Given the description of an element on the screen output the (x, y) to click on. 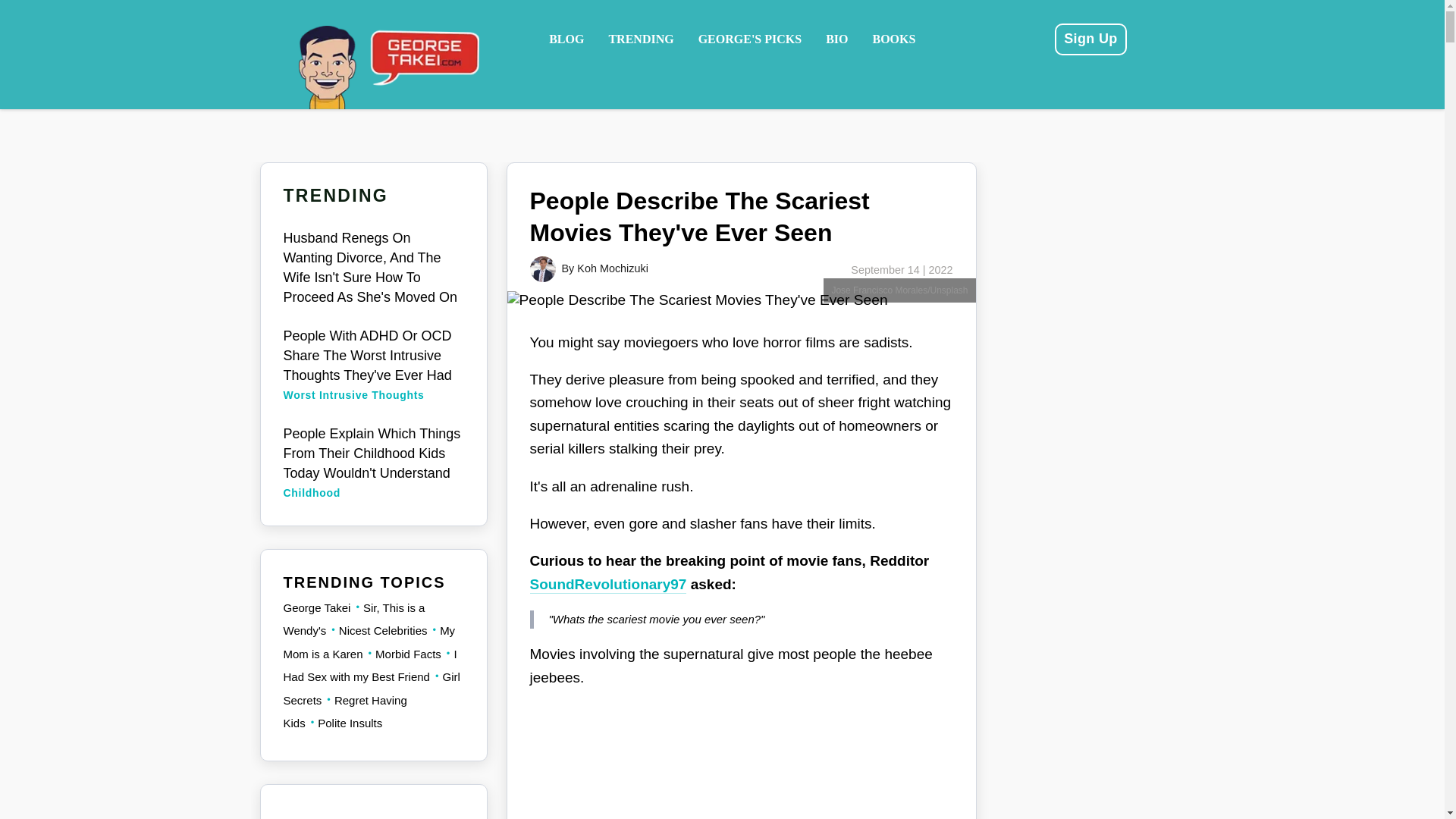
BLOG (566, 38)
TRENDING TOPICS (364, 582)
BOOKS (893, 38)
Morbid Facts (401, 653)
Polite Insults (343, 723)
Regret Having Kids (346, 711)
Worst Intrusive Thoughts (354, 395)
TRENDING (640, 38)
